Given the description of an element on the screen output the (x, y) to click on. 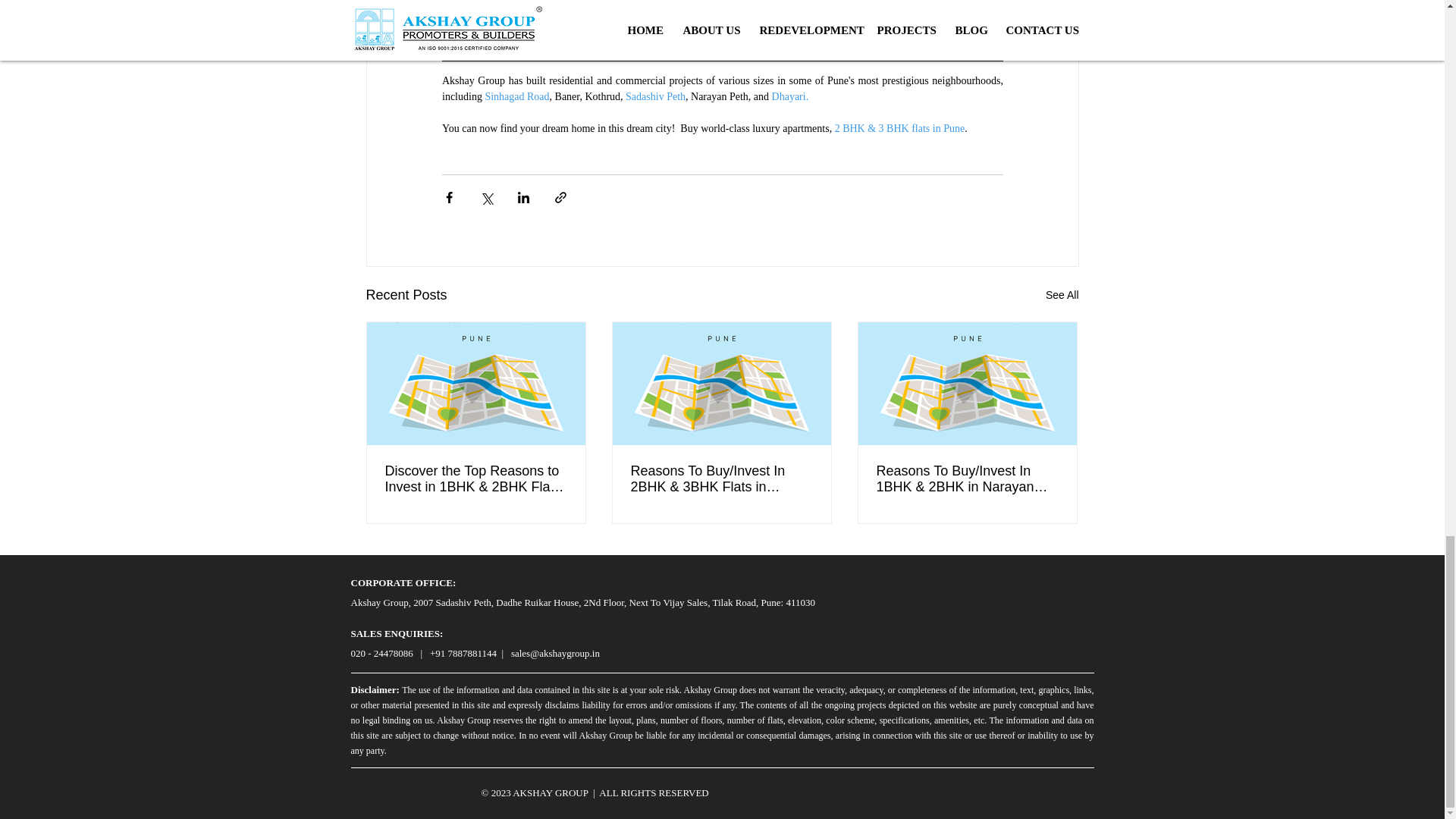
See All (1061, 295)
Sadashiv Peth (655, 96)
Sinhagad Road (516, 96)
Dhayari. (789, 96)
